Given the description of an element on the screen output the (x, y) to click on. 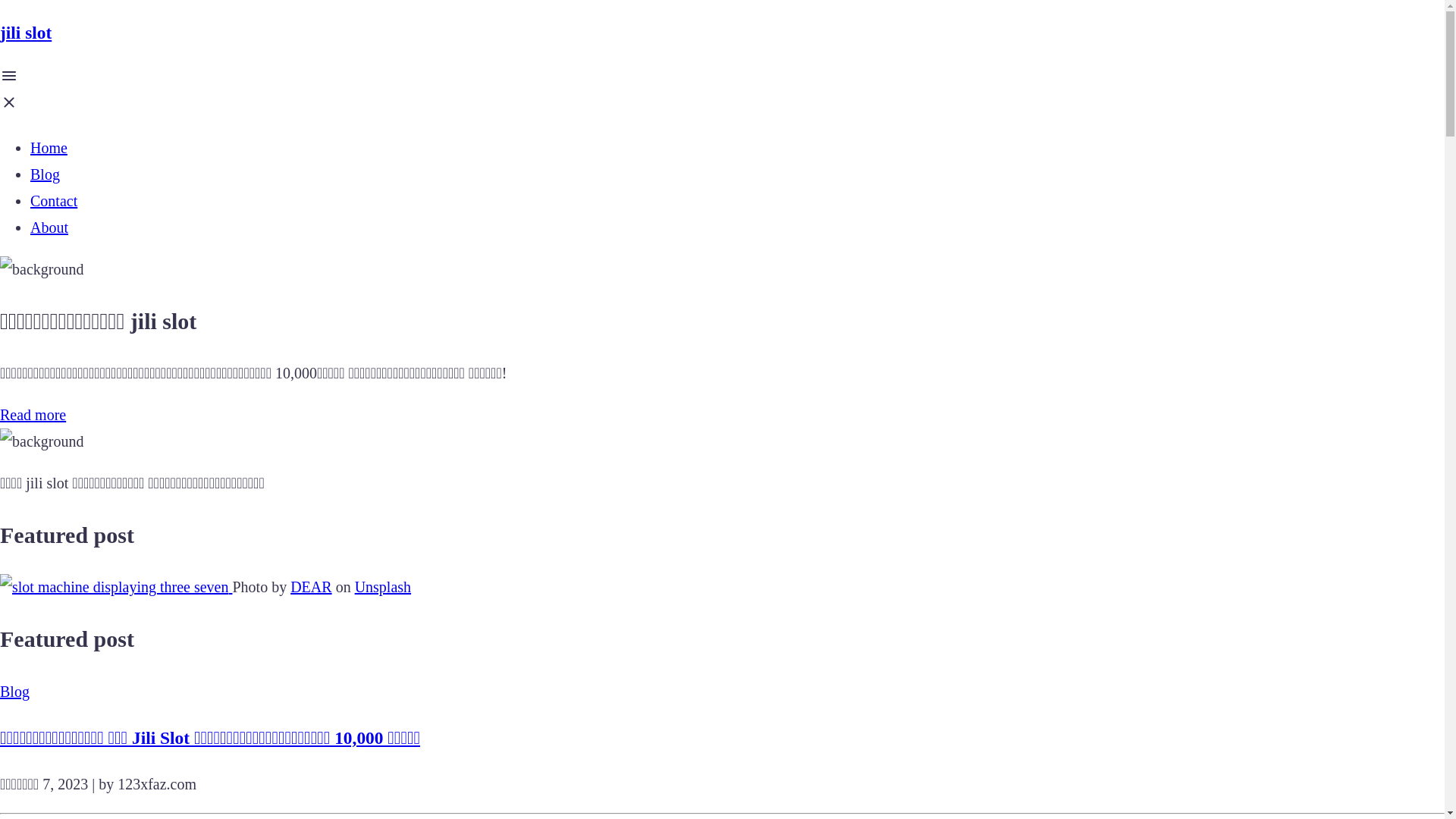
DEAR Element type: text (310, 586)
Home Element type: text (48, 147)
Photo by DEAR Element type: hover (114, 587)
Blog Element type: text (722, 691)
Blog Element type: text (44, 174)
Read more Element type: text (32, 414)
Contact Element type: text (53, 200)
Unsplash Element type: text (382, 586)
jili slot Element type: text (722, 32)
About Element type: text (49, 227)
